Given the description of an element on the screen output the (x, y) to click on. 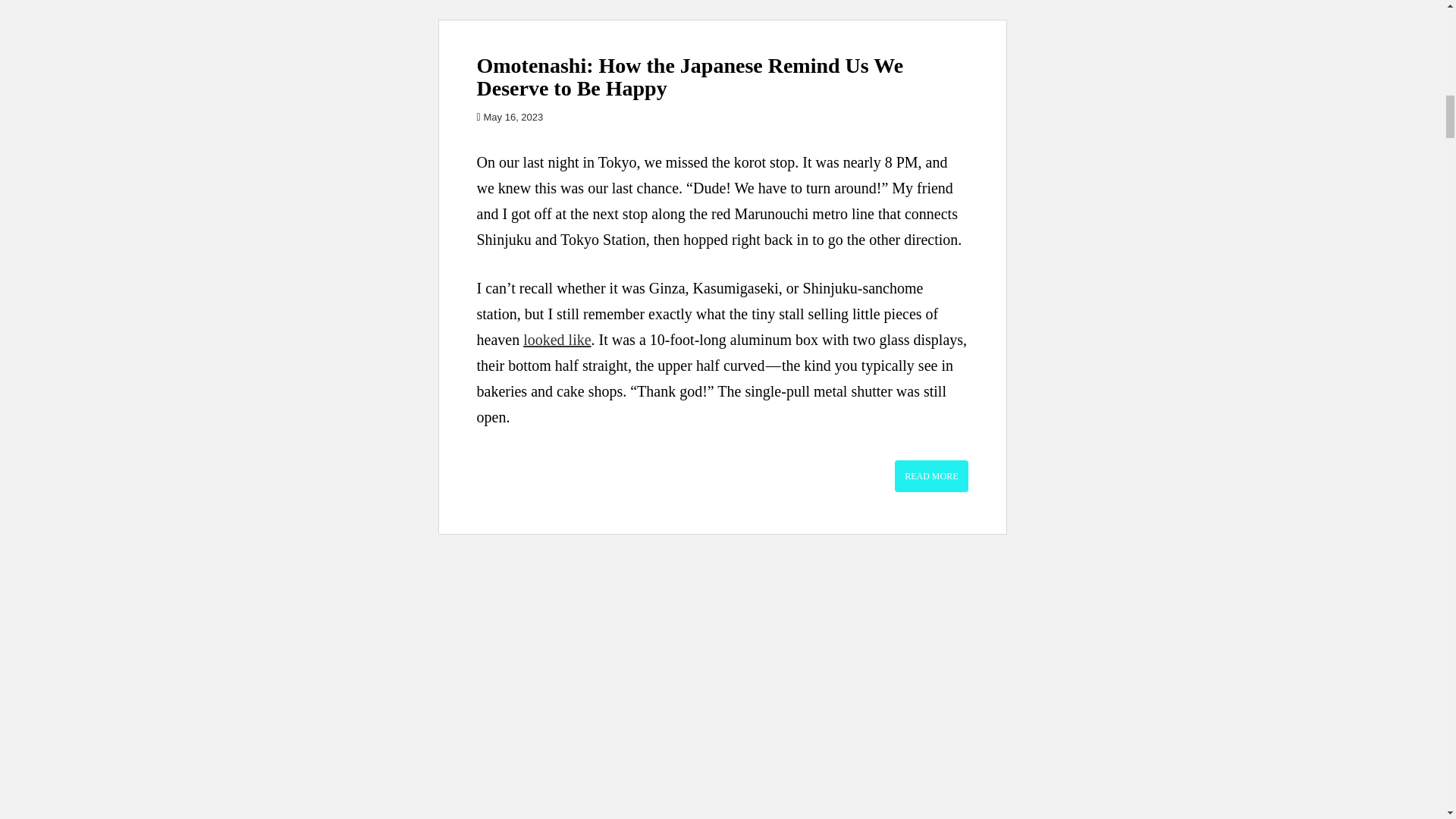
looked like (556, 339)
May 16, 2023 (513, 116)
READ MORE (931, 476)
